Given the description of an element on the screen output the (x, y) to click on. 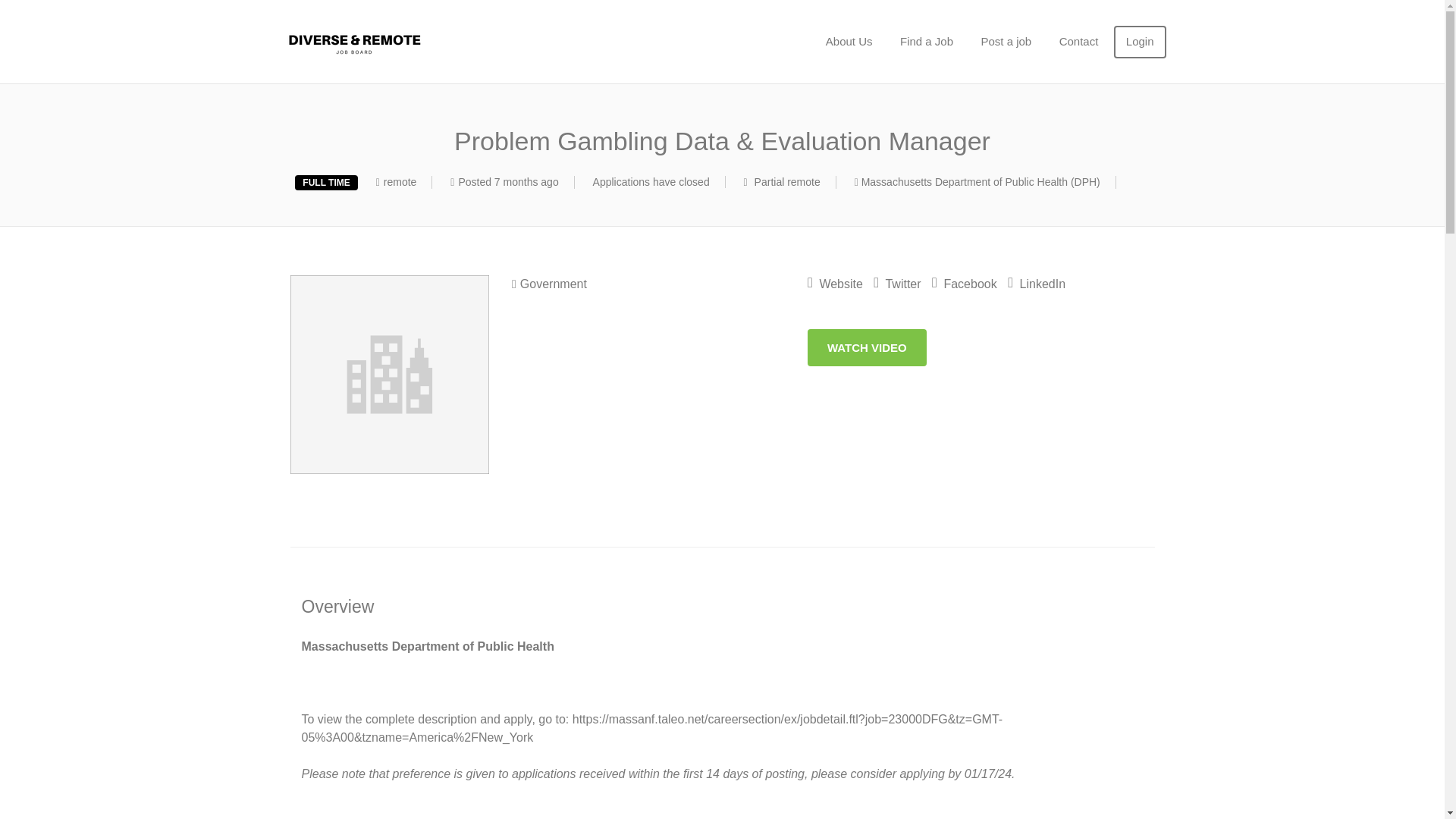
Facebook (964, 283)
Twitter (896, 283)
DIVERSE AND REMOTE (428, 42)
LinkedIn (1036, 283)
About Us (849, 41)
Website (835, 283)
Login (1139, 41)
Contact (1078, 41)
Government (549, 283)
Diverse and Remote (428, 42)
WATCH VIDEO (867, 347)
Post a job (1005, 41)
Partial remote (787, 182)
Find a Job (926, 41)
